Given the description of an element on the screen output the (x, y) to click on. 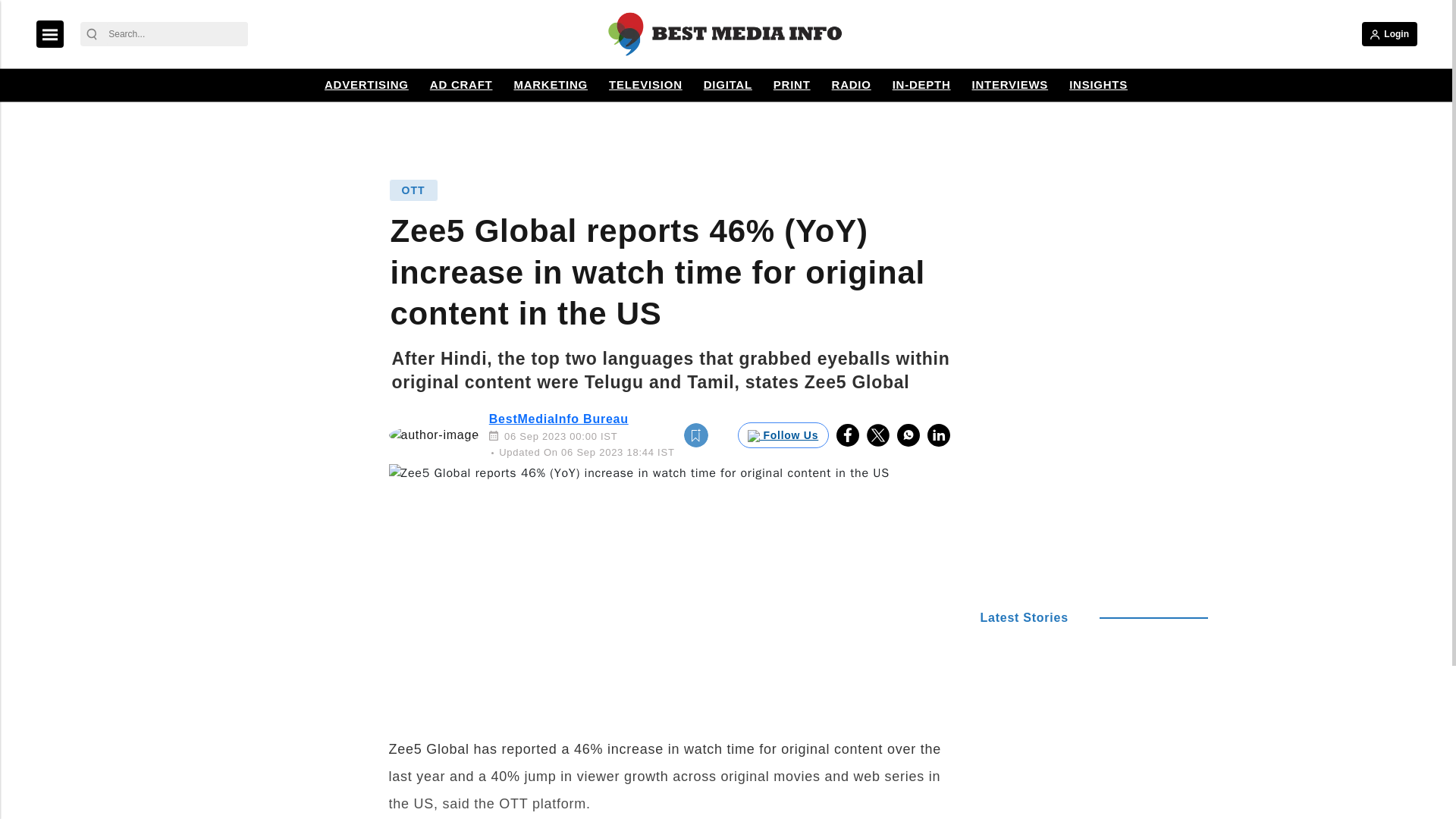
OTT (413, 190)
MARKETING (550, 84)
PRINT (791, 84)
TELEVISION (645, 84)
RADIO (851, 84)
Login (1388, 33)
BestMediaInfo Bureau (558, 418)
AD CRAFT (461, 84)
INTERVIEWS (1010, 84)
IN-DEPTH (921, 84)
Follow Us (782, 434)
ADVERTISING (365, 84)
DIGITAL (727, 84)
INSIGHTS (1098, 84)
